Given the description of an element on the screen output the (x, y) to click on. 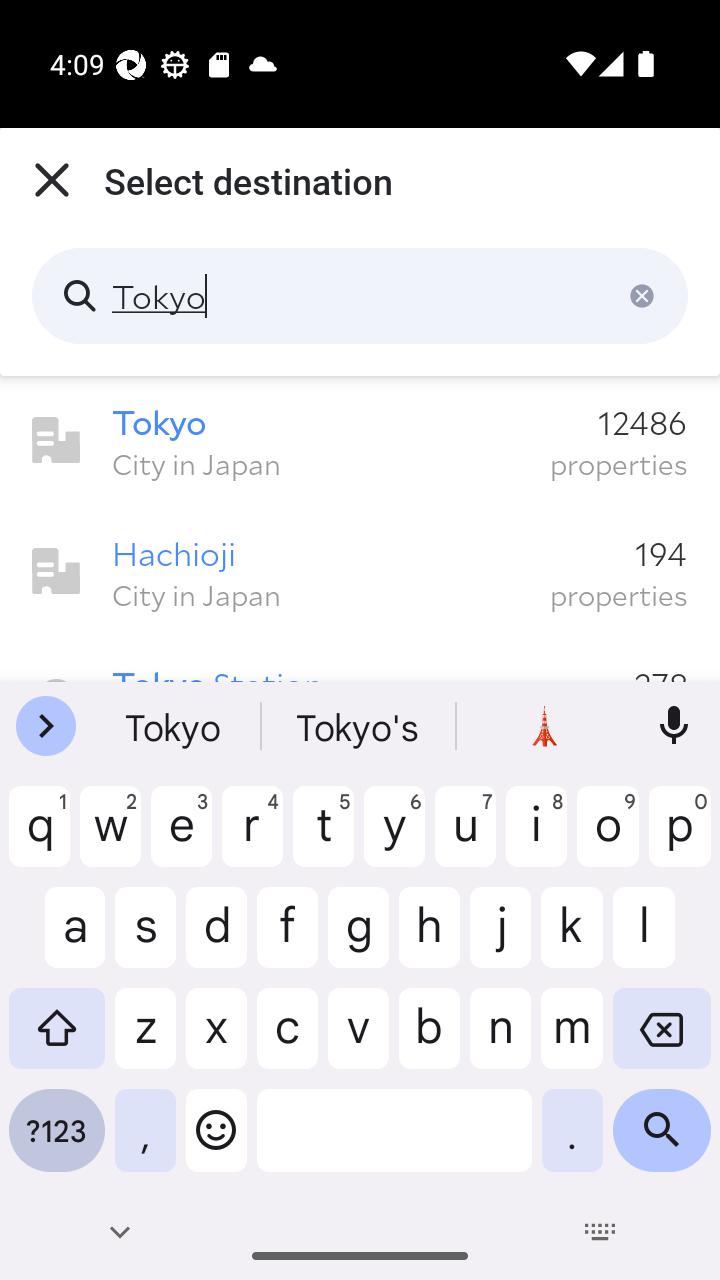
Tokyo (359, 296)
Tokyo 12486 City in Japan properties (360, 441)
Hachioji 194 City in Japan properties (360, 571)
